Given the description of an element on the screen output the (x, y) to click on. 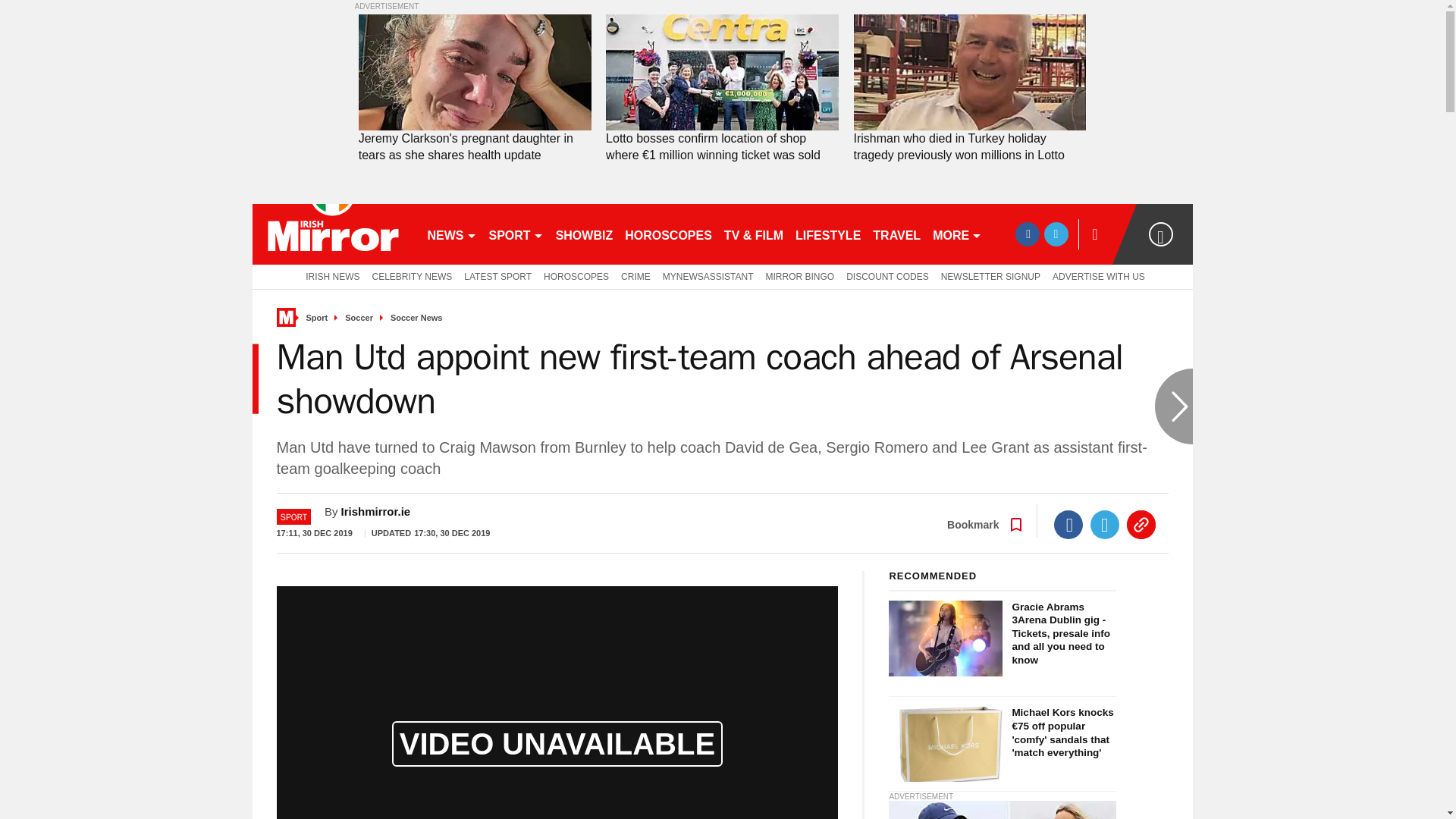
facebook (1026, 233)
TRAVEL (896, 233)
Twitter (1104, 524)
HOROSCOPES (667, 233)
NEWS (452, 233)
Facebook (1068, 524)
irishmirror (332, 233)
LIFESTYLE (827, 233)
twitter (1055, 233)
MORE (957, 233)
